Given the description of an element on the screen output the (x, y) to click on. 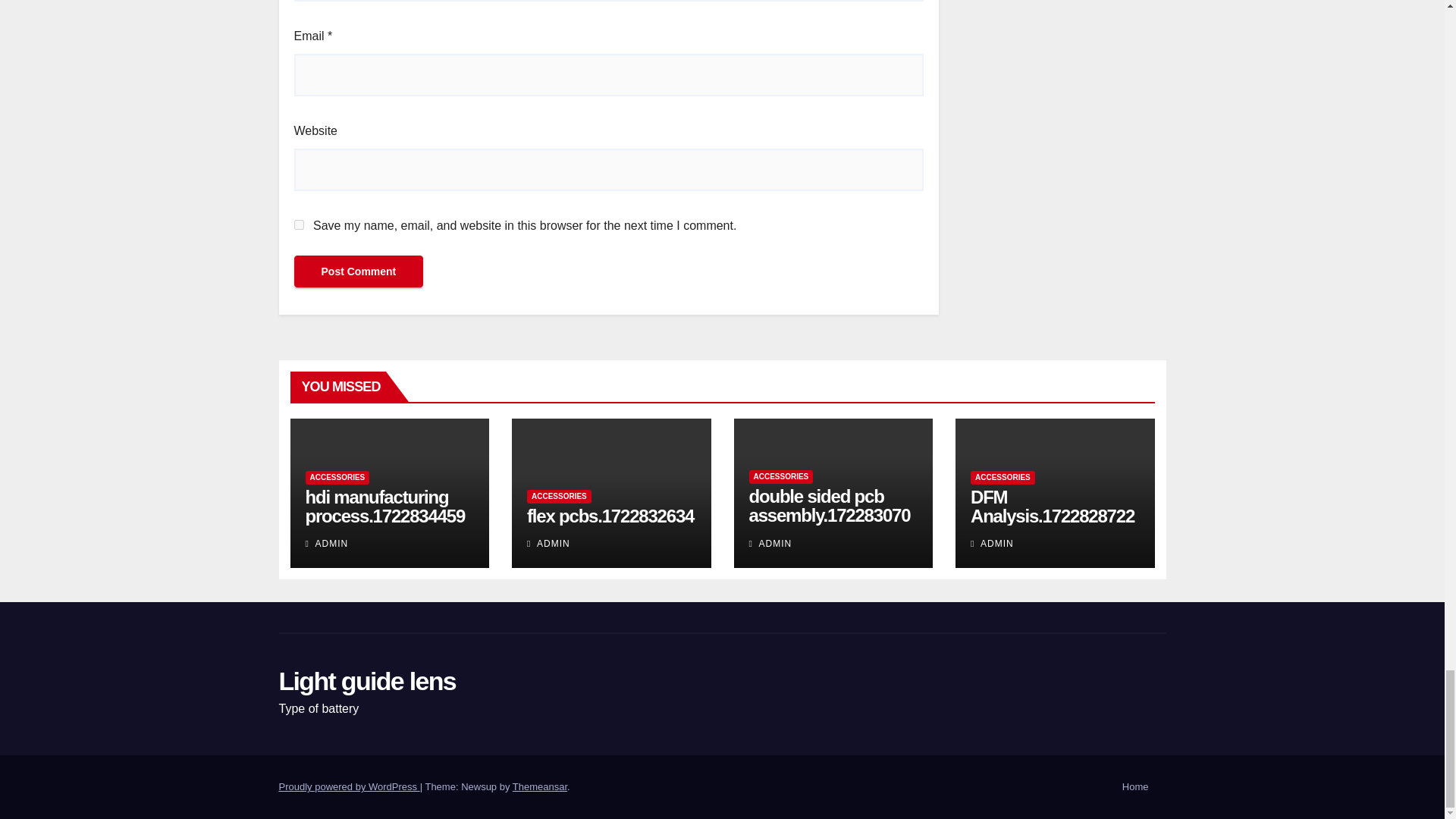
Post Comment (358, 271)
Permalink to: hdi manufacturing process.1722834459 (384, 506)
Post Comment (358, 271)
yes (299, 225)
